Given the description of an element on the screen output the (x, y) to click on. 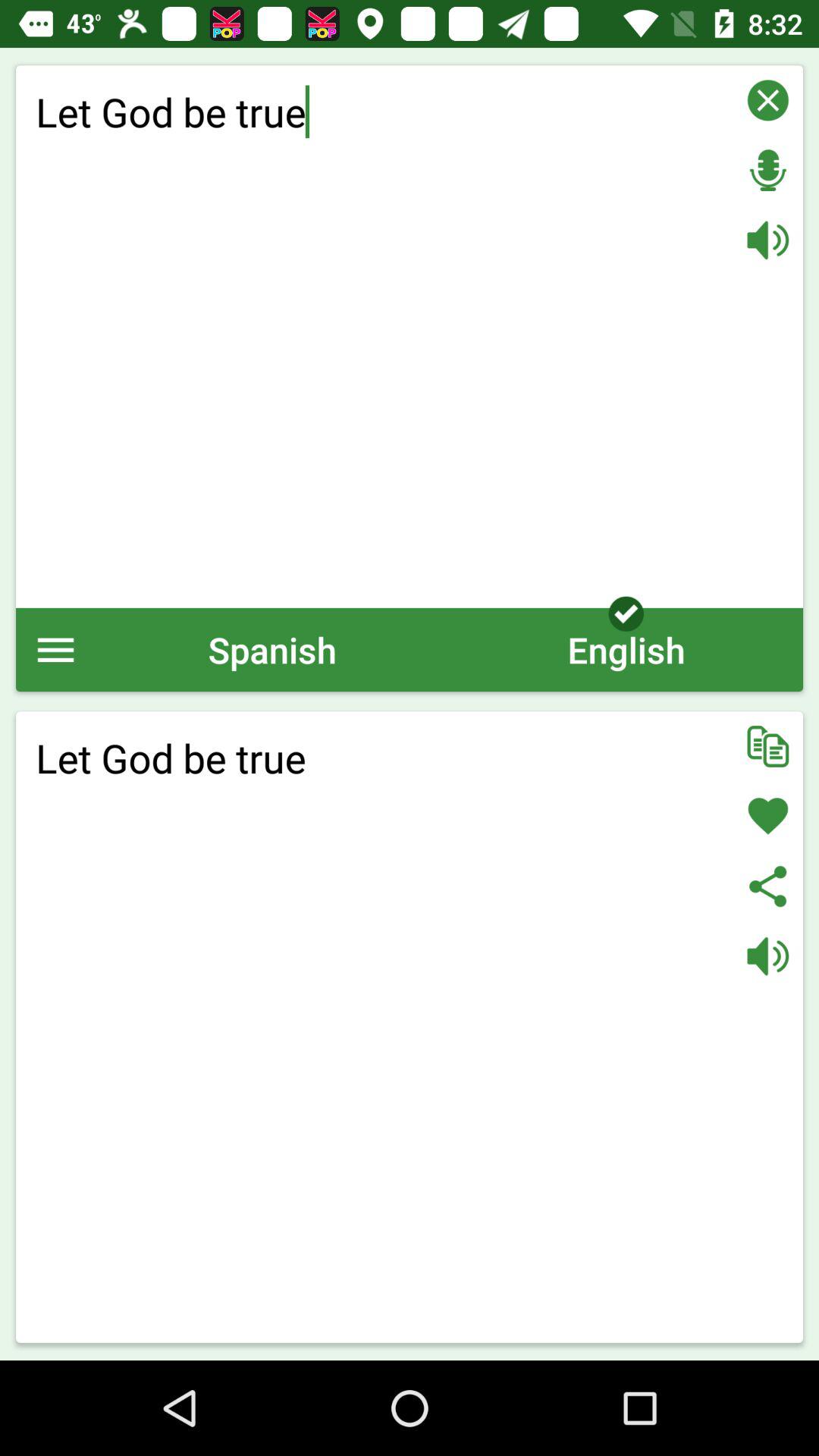
press the icon above let god be item (55, 649)
